Given the description of an element on the screen output the (x, y) to click on. 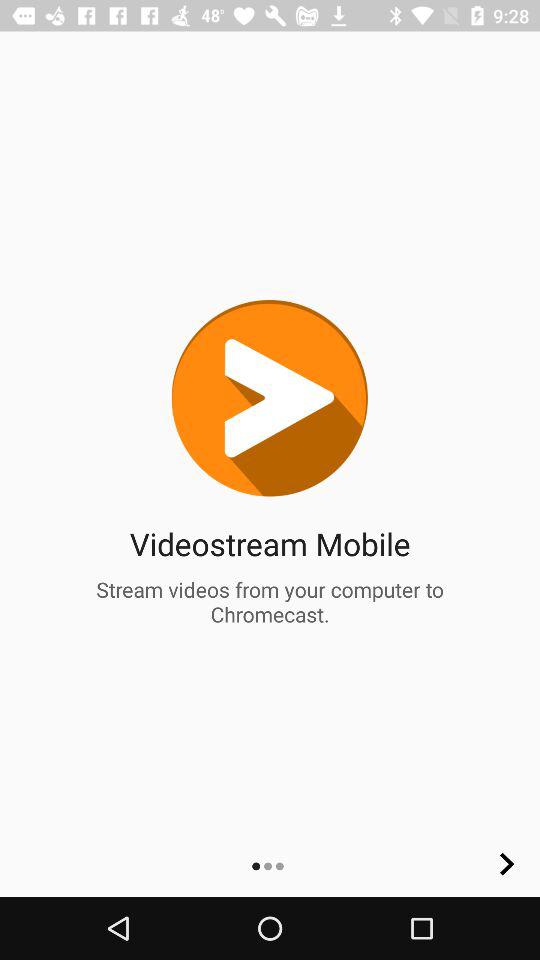
go to next (507, 864)
